Given the description of an element on the screen output the (x, y) to click on. 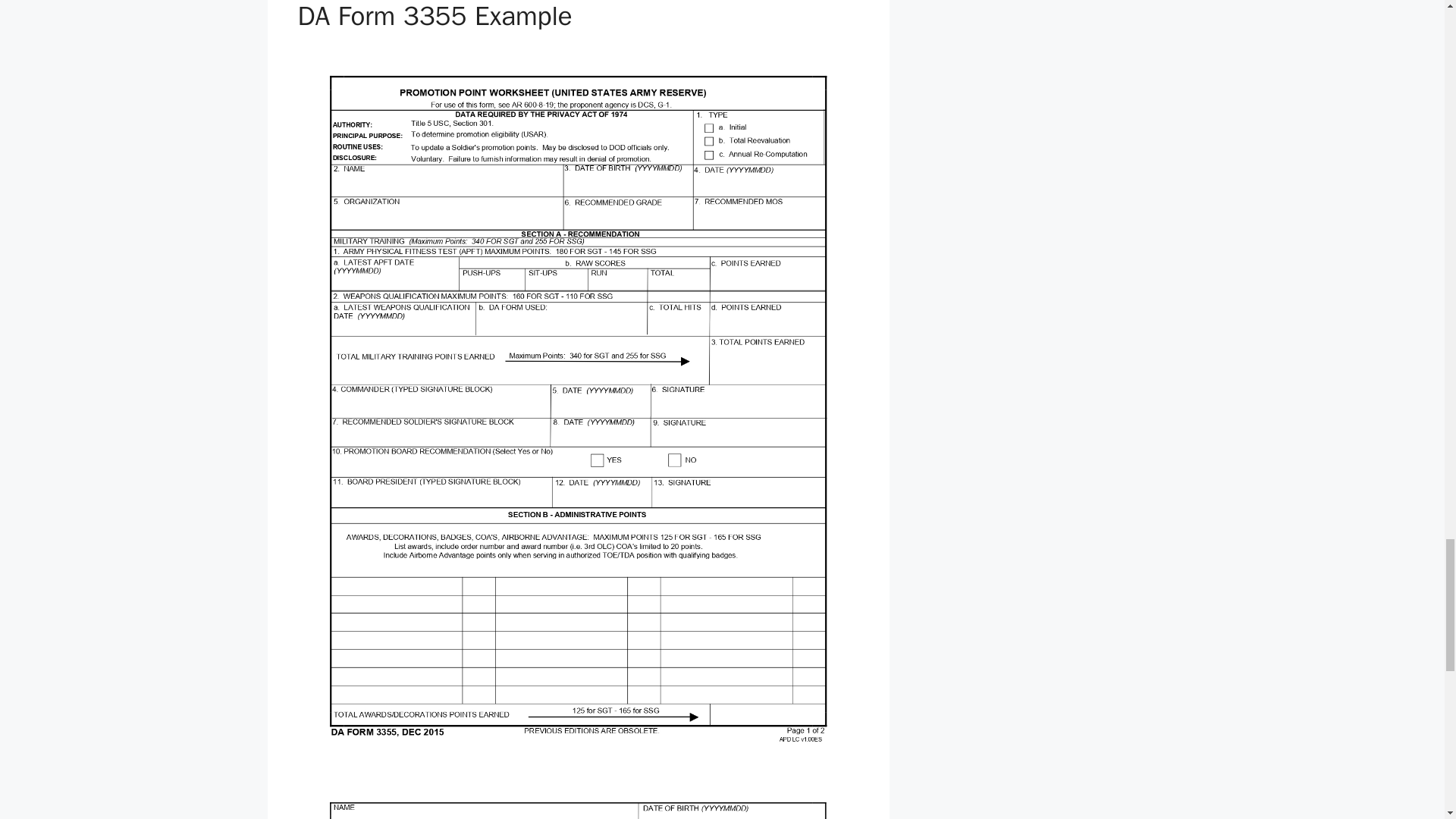
DA Form 3355 Page 2 (578, 796)
